Given the description of an element on the screen output the (x, y) to click on. 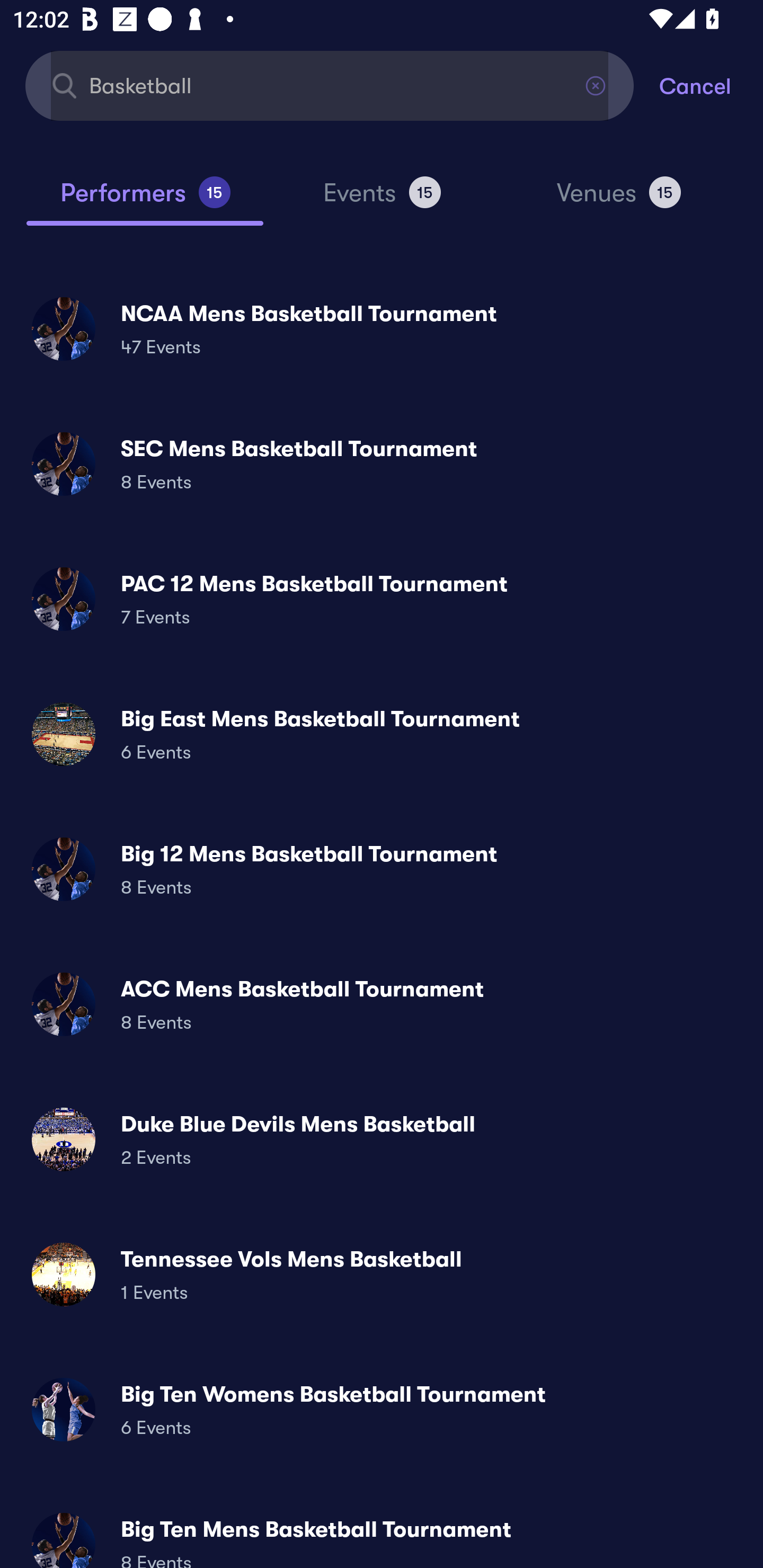
Basketball Find (329, 85)
Basketball Find (329, 85)
Cancel (711, 85)
Performers 15 (144, 200)
Events 15 (381, 200)
Venues 15 (618, 200)
NCAA Mens Basketball Tournament 47 Events (381, 328)
SEC Mens Basketball Tournament 8 Events (381, 464)
PAC 12 Mens Basketball Tournament 7 Events (381, 598)
Big East Mens Basketball Tournament 6 Events (381, 734)
Big 12 Mens Basketball Tournament 8 Events (381, 869)
ACC Mens Basketball Tournament 8 Events (381, 1004)
Duke Blue Devils Mens Basketball 2 Events (381, 1138)
Tennessee Vols Mens Basketball 1 Events (381, 1273)
Big Ten Womens Basketball Tournament 6 Events (381, 1409)
Big Ten Mens Basketball Tournament 8 Events (381, 1532)
